Given the description of an element on the screen output the (x, y) to click on. 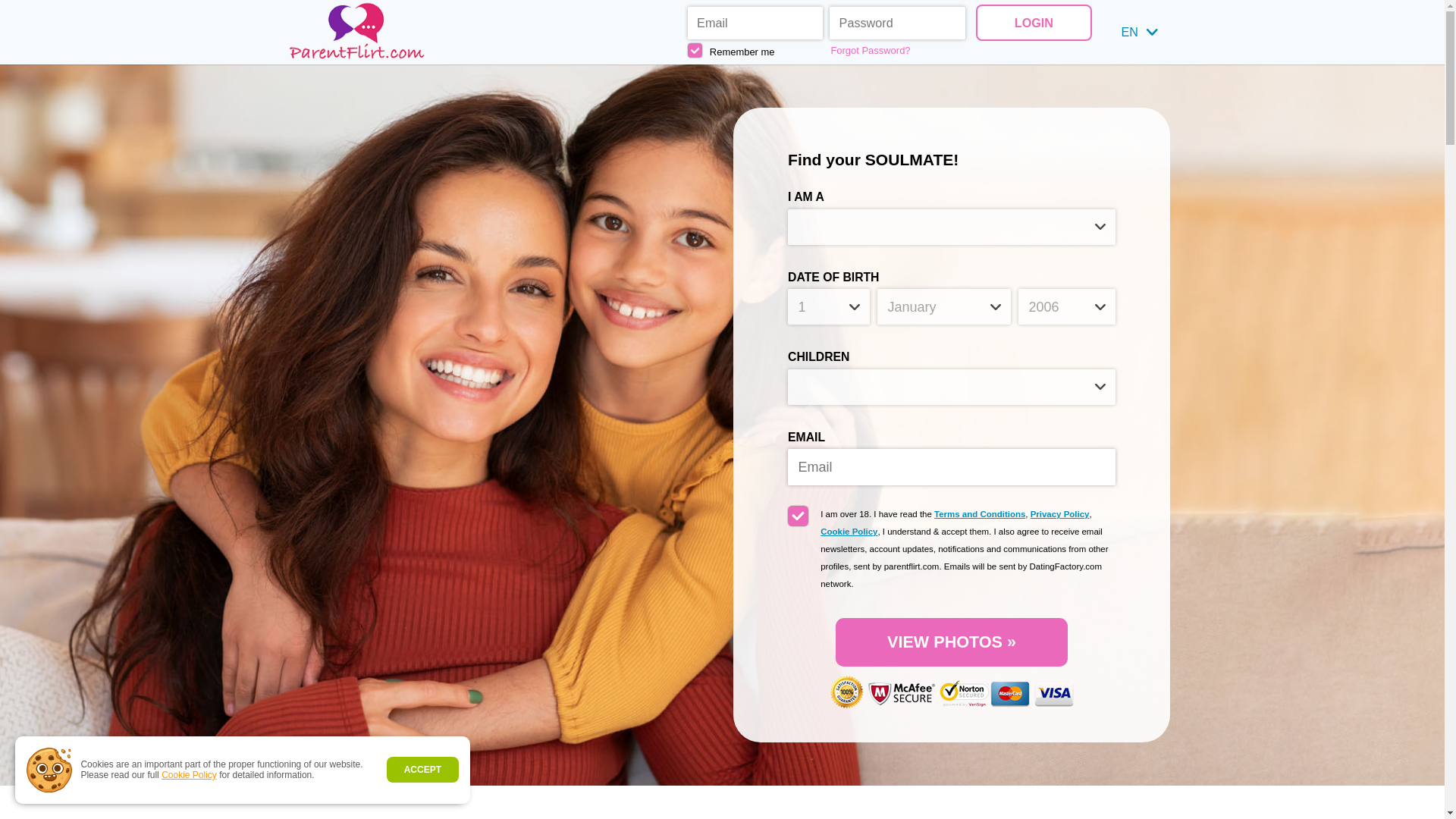
Terms and Conditions (979, 513)
Cookie Policy (188, 774)
Forgot Password? (897, 50)
Privacy Policy (1059, 513)
LOGIN (1032, 22)
EN (1139, 32)
Cookie Policy (849, 531)
